Given the description of an element on the screen output the (x, y) to click on. 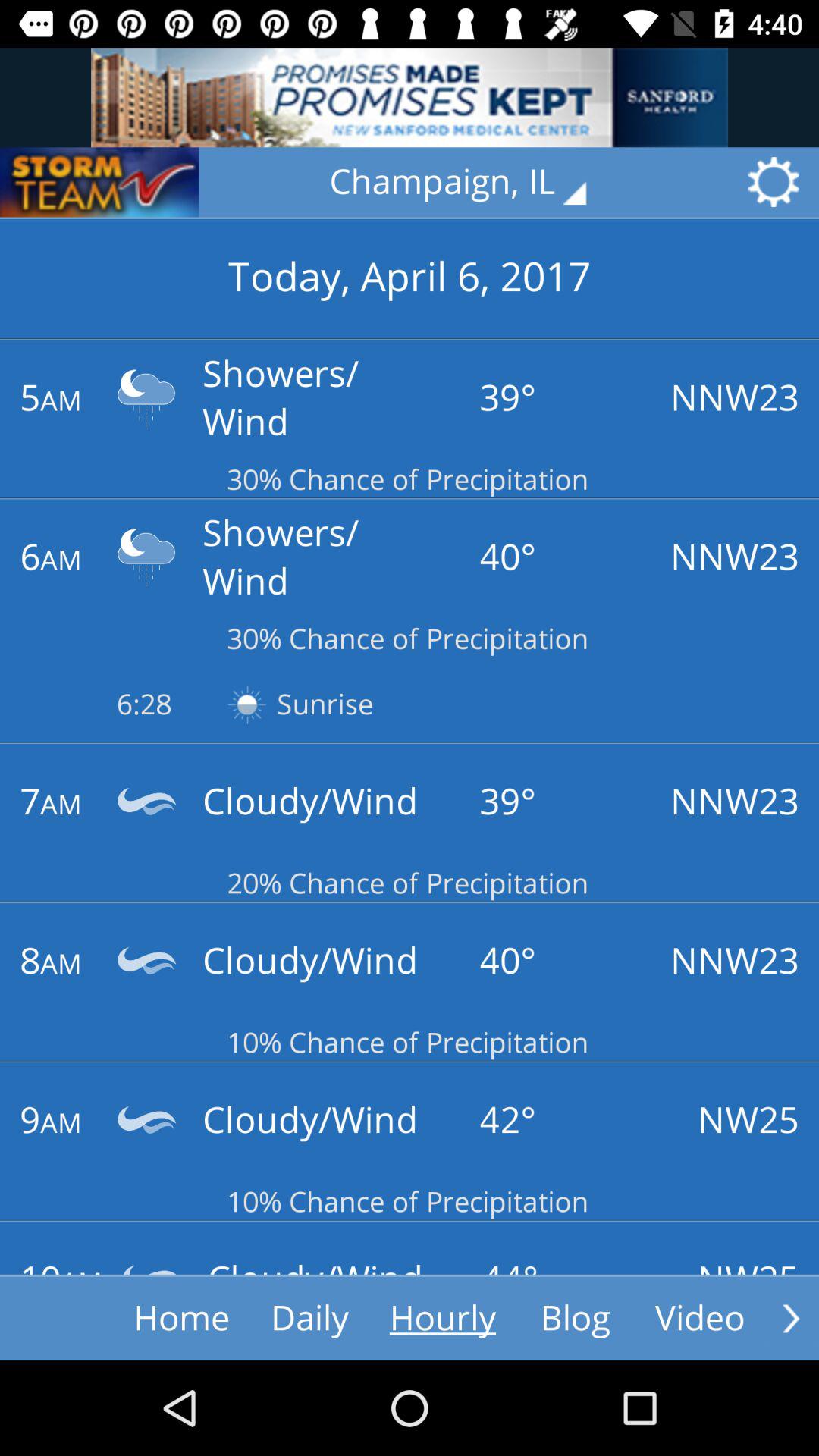
storm team button (99, 182)
